Given the description of an element on the screen output the (x, y) to click on. 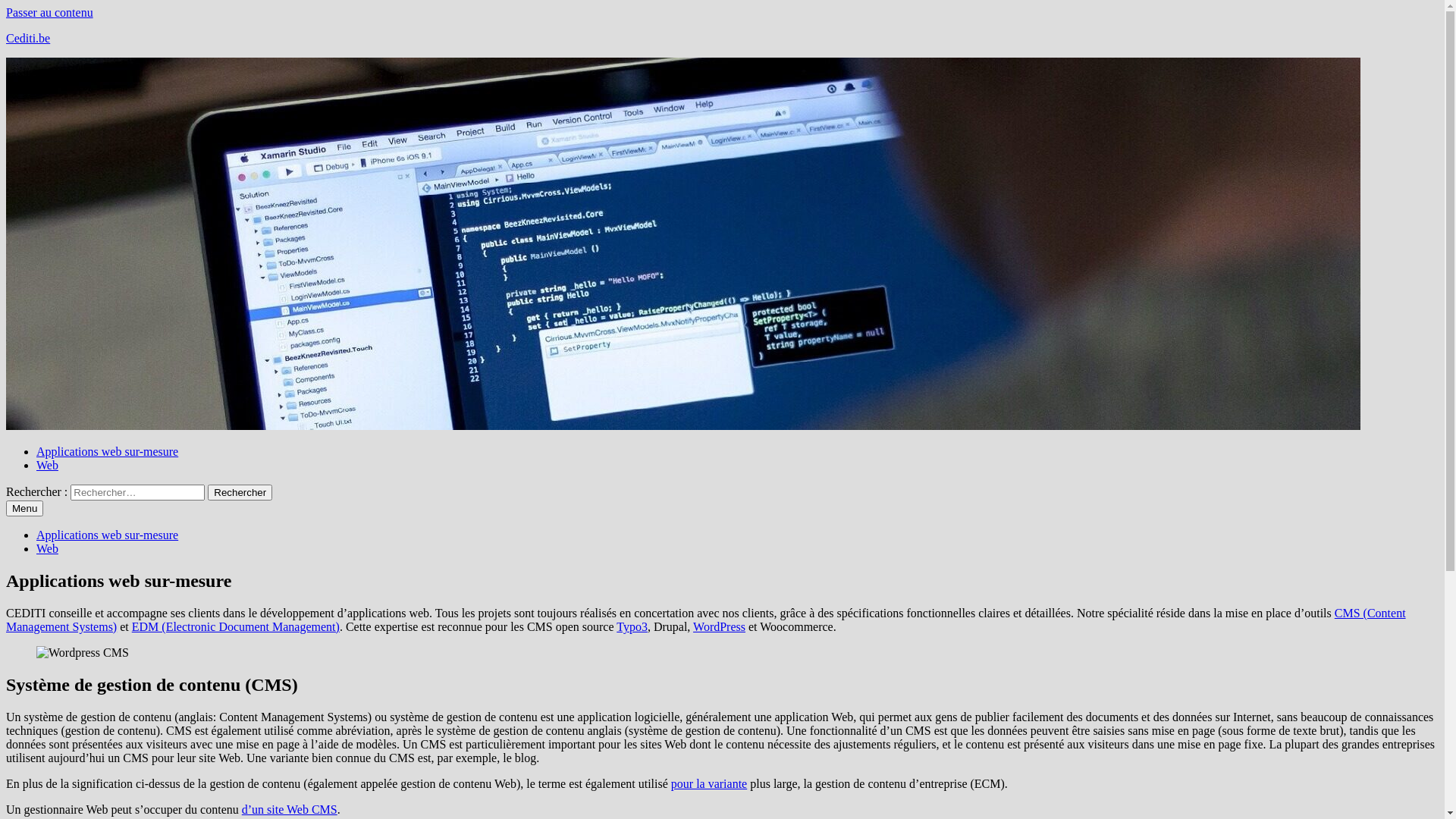
Web Element type: text (47, 548)
Web Element type: text (47, 464)
Passer au contenu Element type: text (49, 12)
WordPress Element type: text (719, 626)
Typo3 Element type: text (631, 626)
pour la variante Element type: text (708, 783)
CMS (Content Management Systems) Element type: text (705, 619)
Rechercher Element type: text (239, 492)
EDM (Electronic Document Management) Element type: text (235, 626)
Menu Element type: text (24, 508)
Cediti.be Element type: text (28, 37)
Applications web sur-mesure Element type: text (107, 534)
Applications web sur-mesure Element type: text (107, 451)
